Given the description of an element on the screen output the (x, y) to click on. 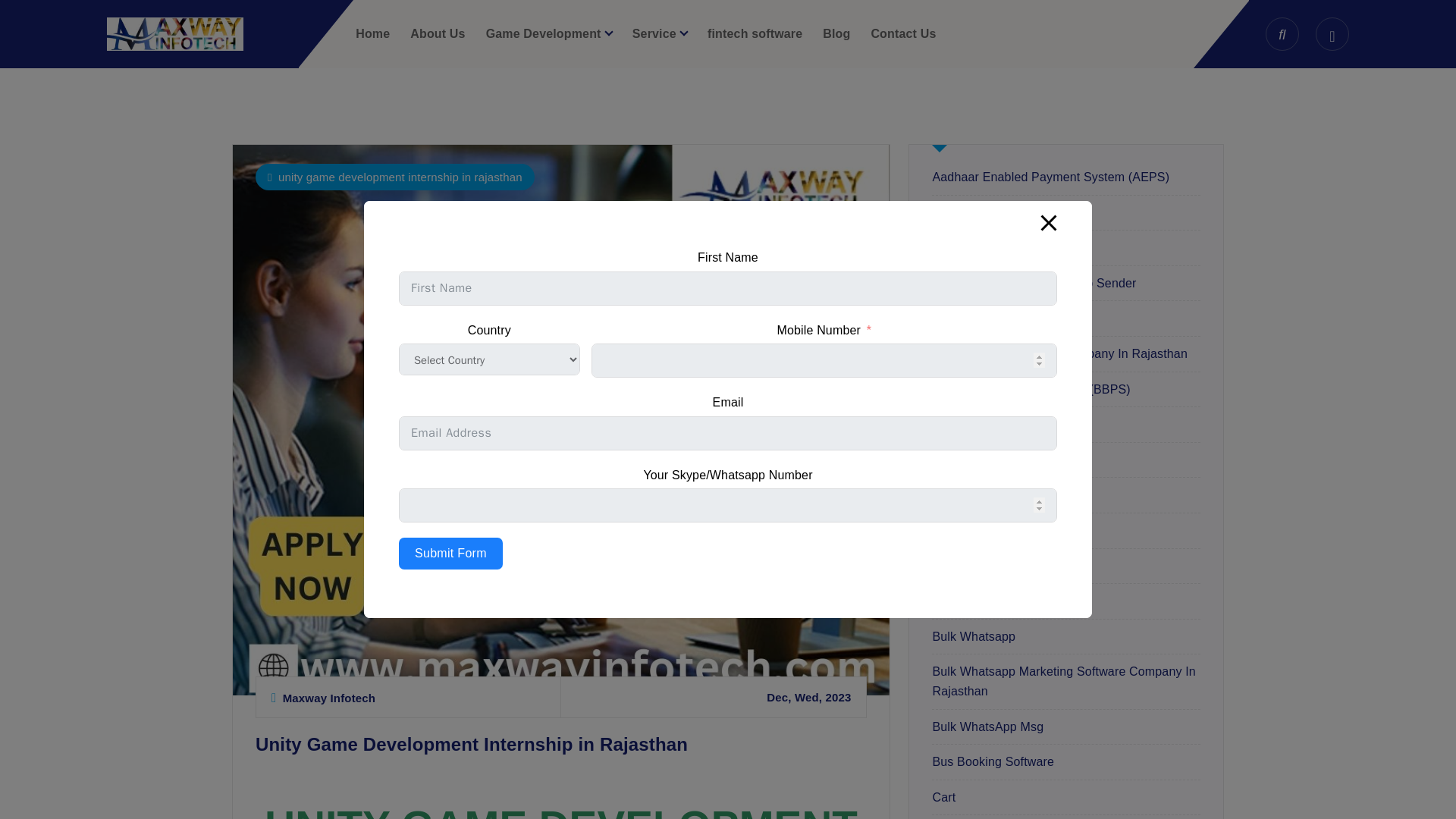
Service (659, 33)
fintech software (754, 33)
About Us (437, 33)
fintech software (754, 33)
Service (659, 33)
About Us (437, 33)
Game Development (548, 33)
Home (372, 33)
Home (372, 33)
Contact Us (903, 33)
